Given the description of an element on the screen output the (x, y) to click on. 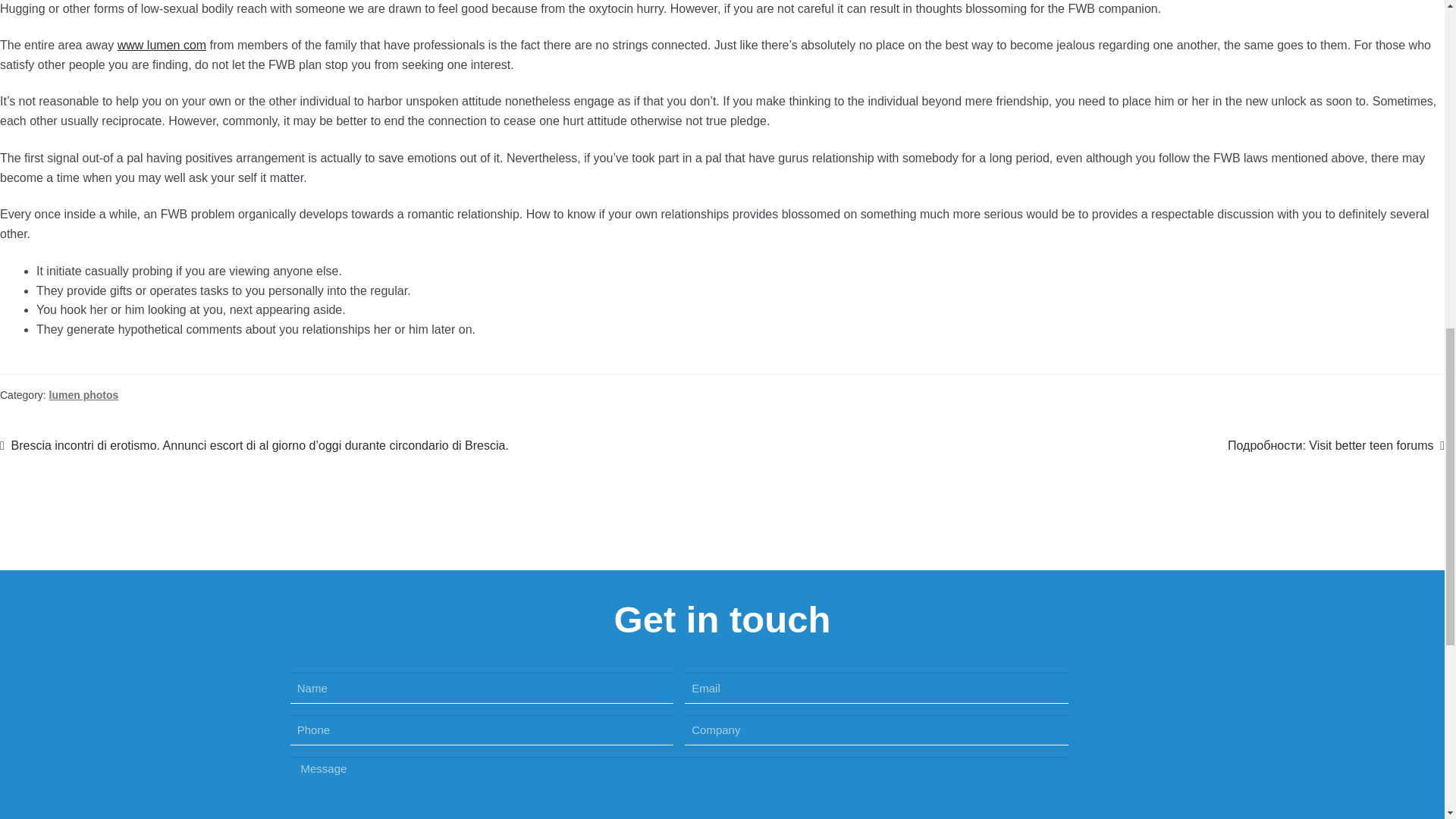
www lumen com (161, 44)
lumen photos (84, 395)
